Given the description of an element on the screen output the (x, y) to click on. 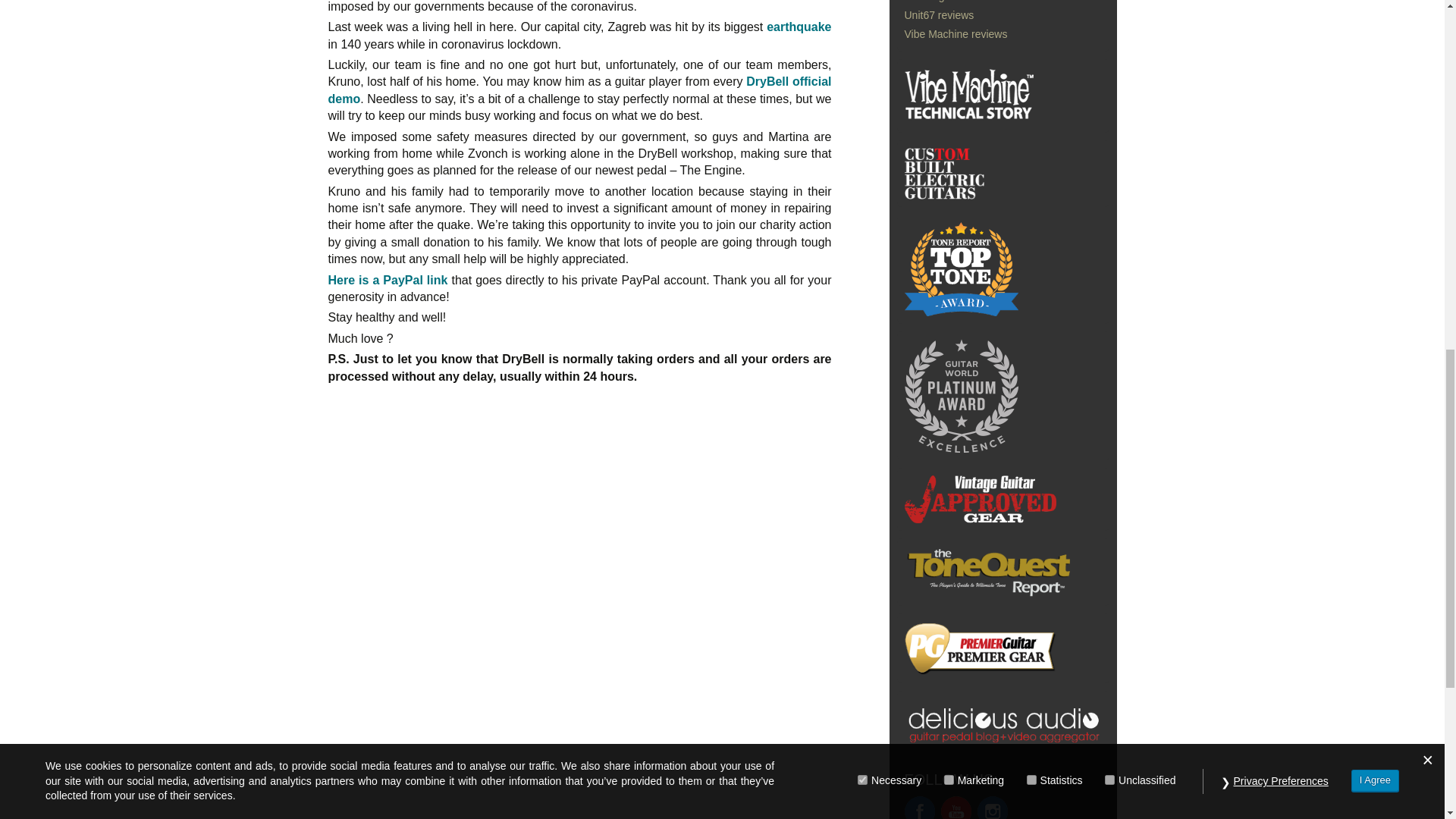
Here is a PayPal link (386, 279)
DryBell official demo (579, 89)
earthquake (799, 26)
